Given the description of an element on the screen output the (x, y) to click on. 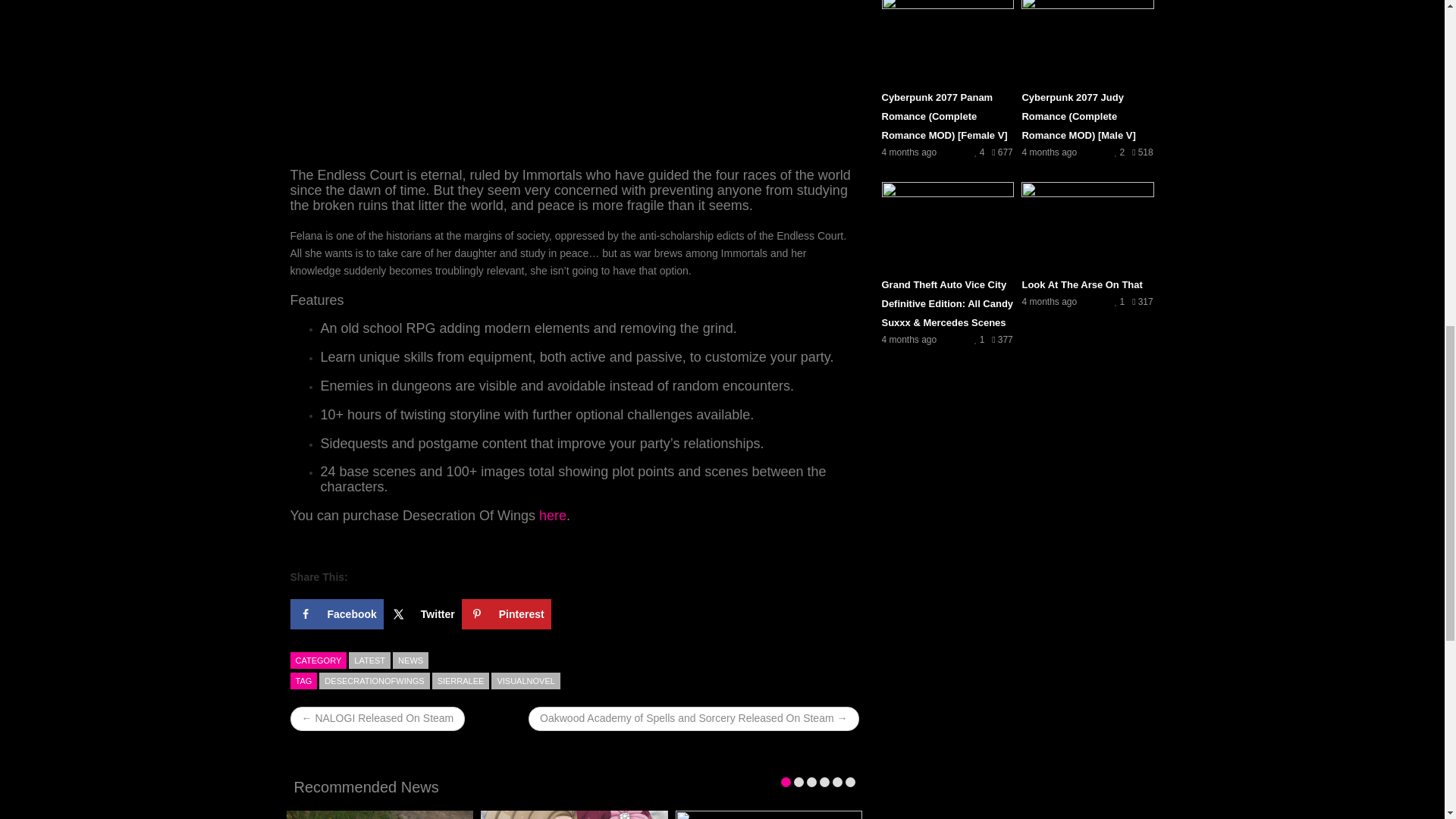
Share on Facebook (335, 613)
Share on X (422, 613)
Save to Pinterest (506, 613)
